Given the description of an element on the screen output the (x, y) to click on. 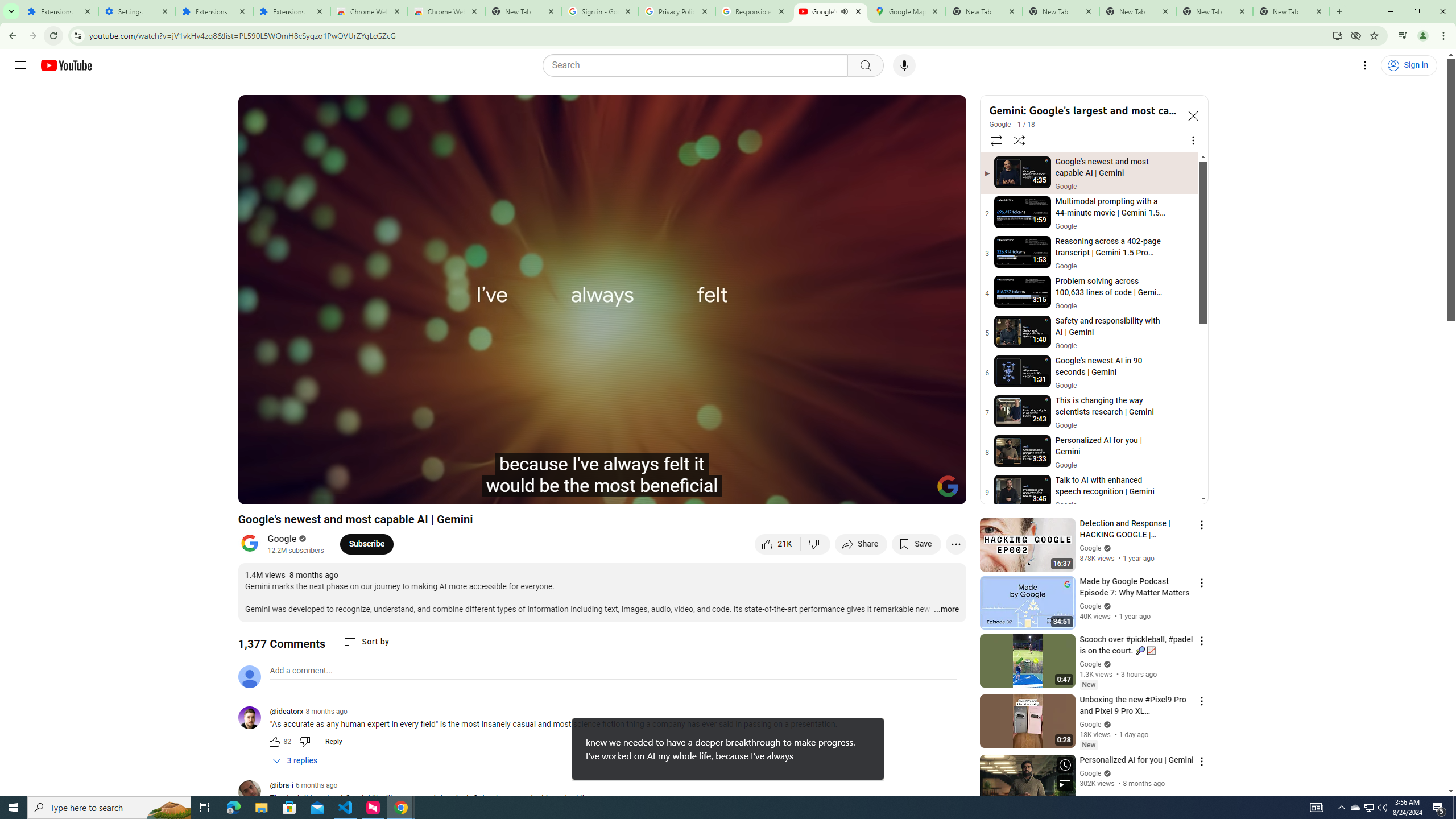
Loop playlist (995, 140)
